Given the description of an element on the screen output the (x, y) to click on. 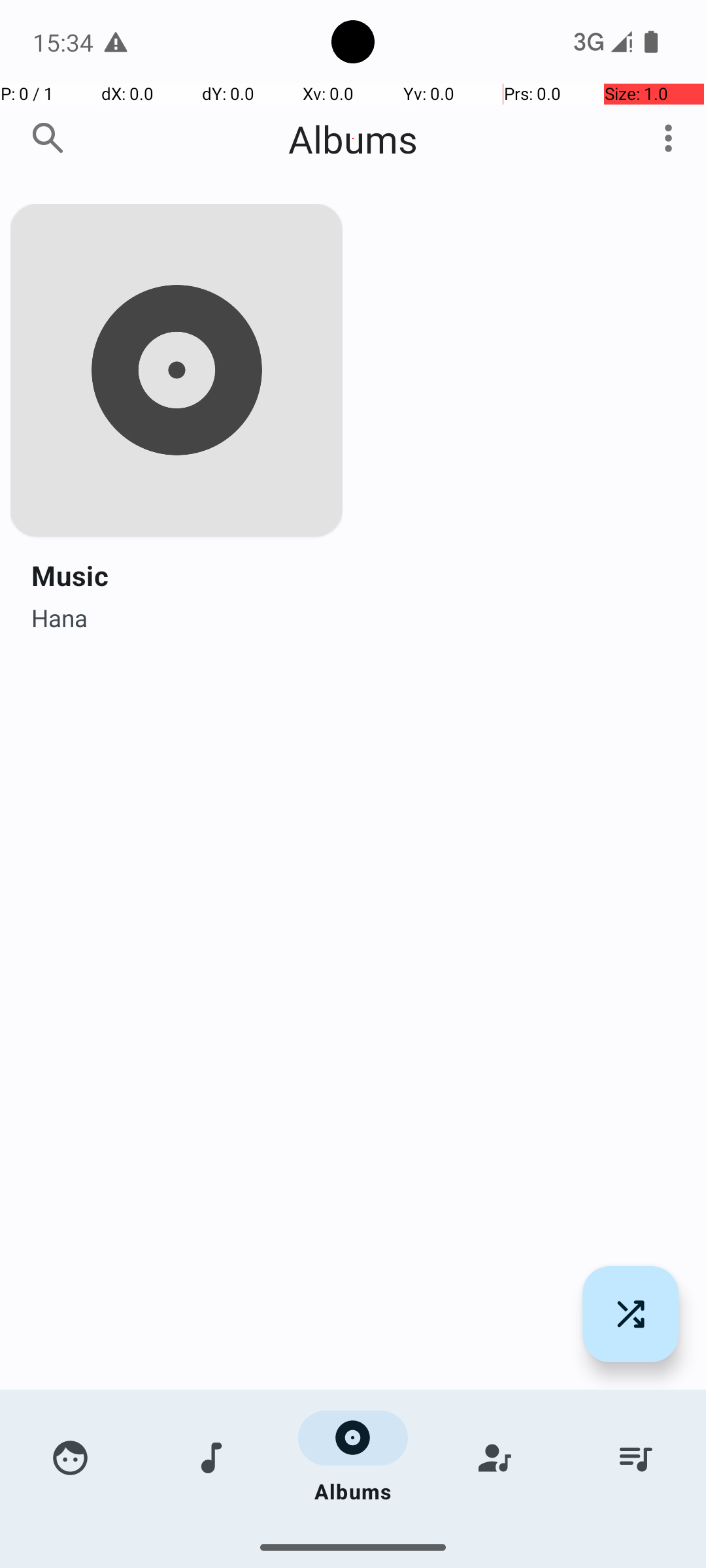
Music Element type: android.widget.TextView (69, 574)
Hana Element type: android.widget.TextView (59, 613)
